Given the description of an element on the screen output the (x, y) to click on. 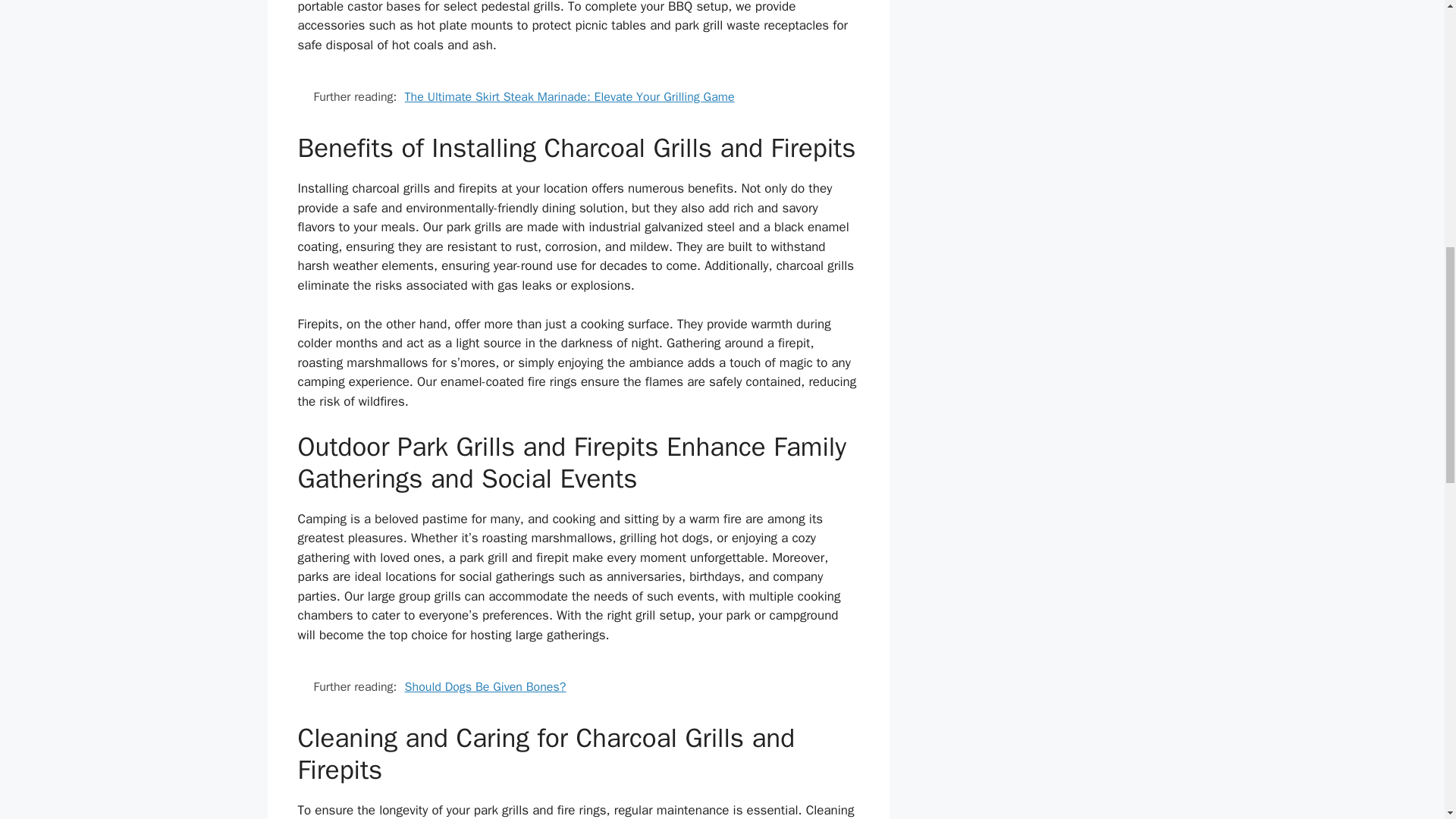
Further reading:  Should Dogs Be Given Bones? (578, 687)
